Given the description of an element on the screen output the (x, y) to click on. 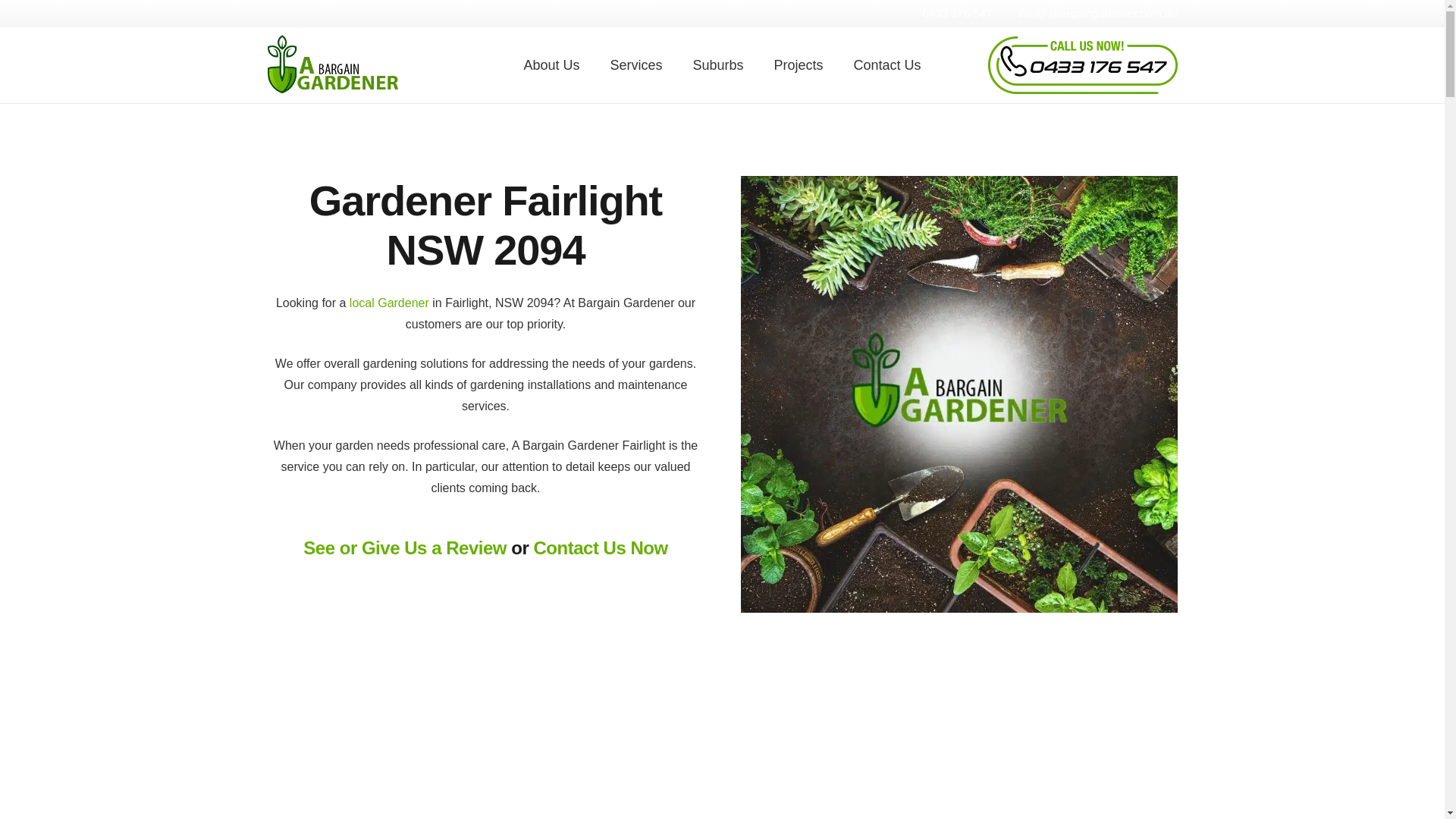
See or Give Us a Review (404, 547)
Contact Us (887, 65)
local Gardener (389, 302)
Contact Us Now (599, 547)
Services (635, 65)
Projects (798, 65)
Suburbs (717, 65)
About Us (551, 65)
